Given the description of an element on the screen output the (x, y) to click on. 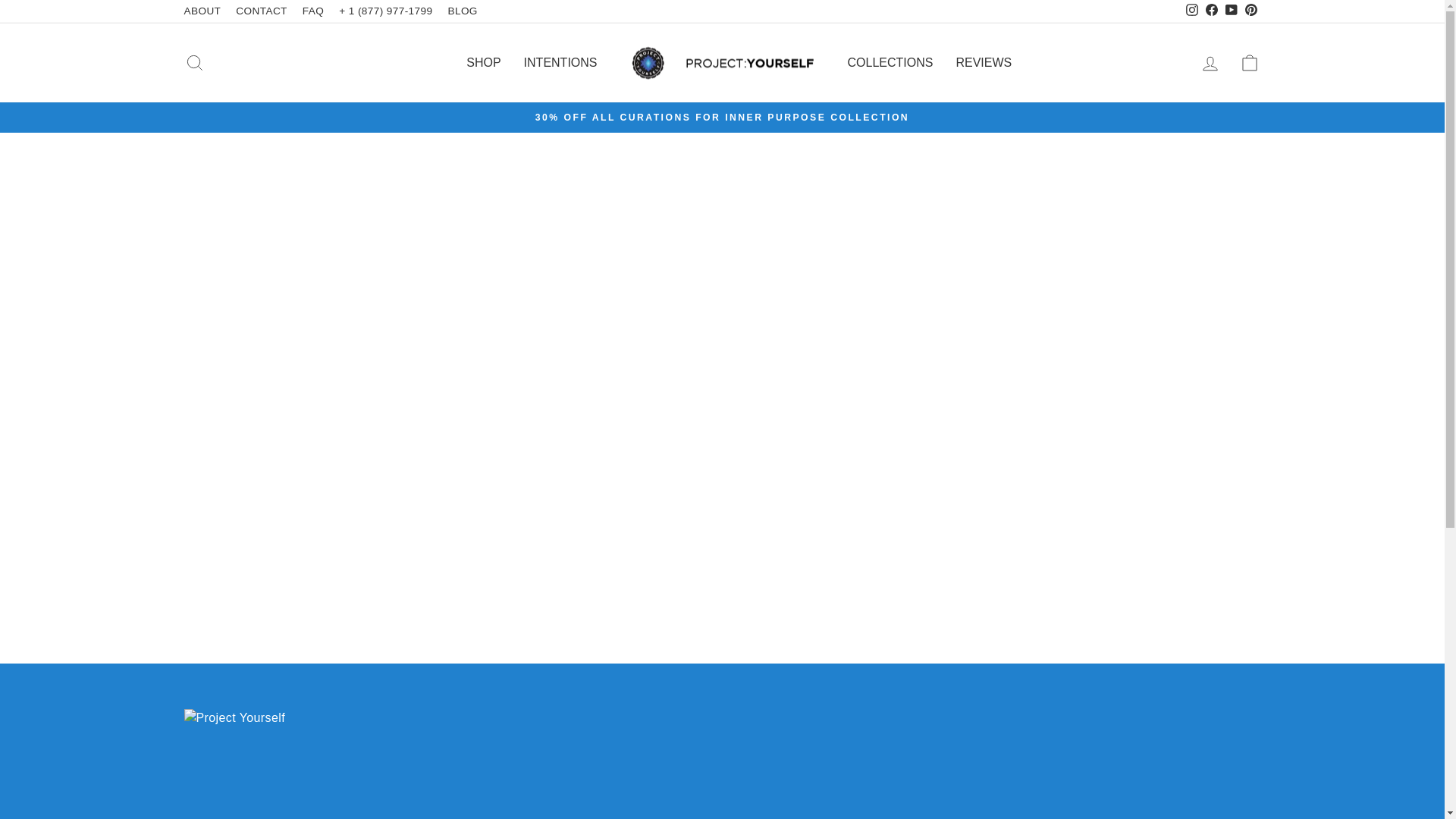
Project Yourself on Instagram (1190, 11)
Project Yourself on Pinterest (1250, 11)
Project Yourself on YouTube (1230, 11)
Project Yourself on Facebook (1211, 11)
